Given the description of an element on the screen output the (x, y) to click on. 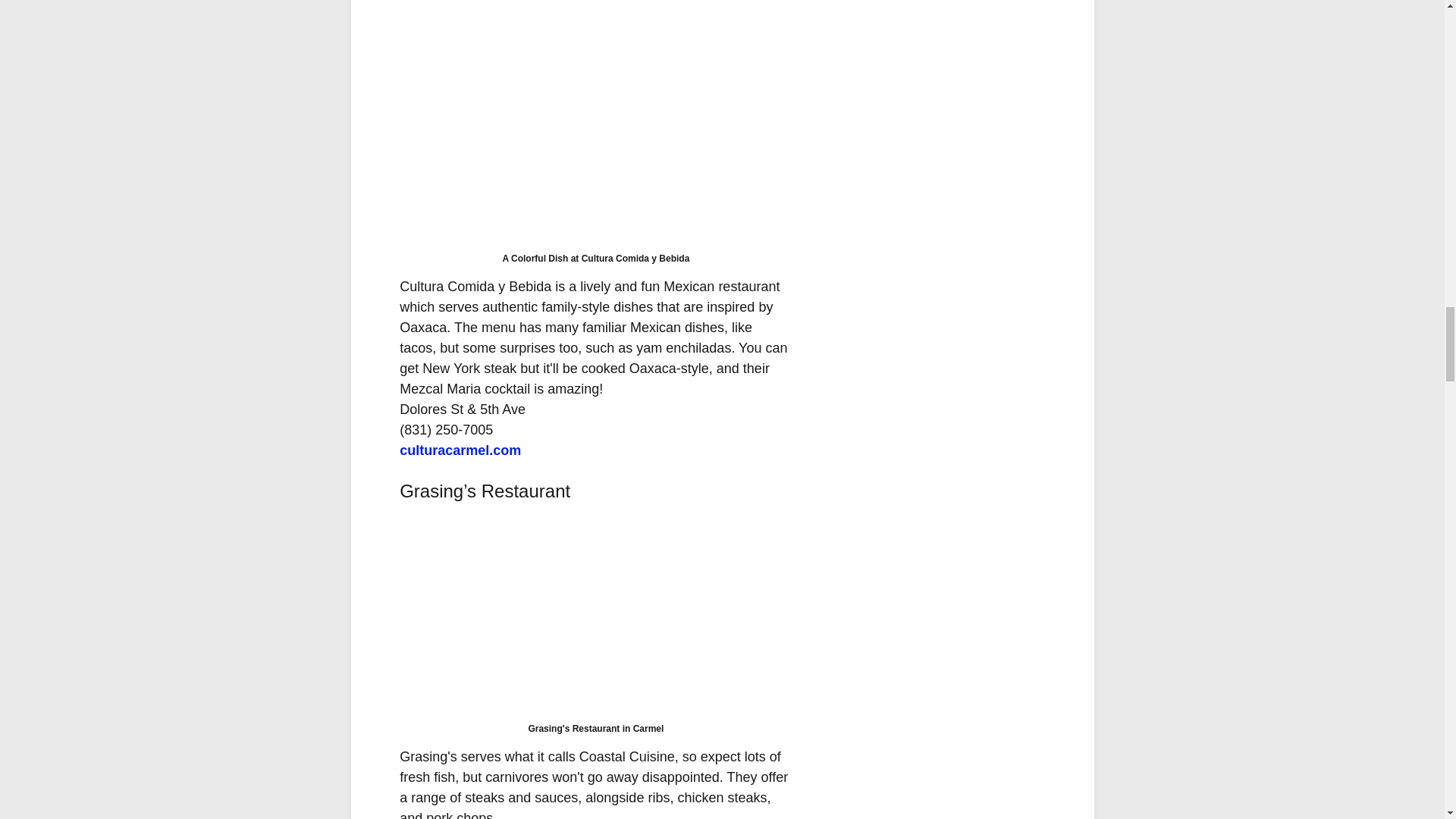
culturacarmel.com (459, 450)
Grasing's Restaurant in Carmel (595, 614)
